Given the description of an element on the screen output the (x, y) to click on. 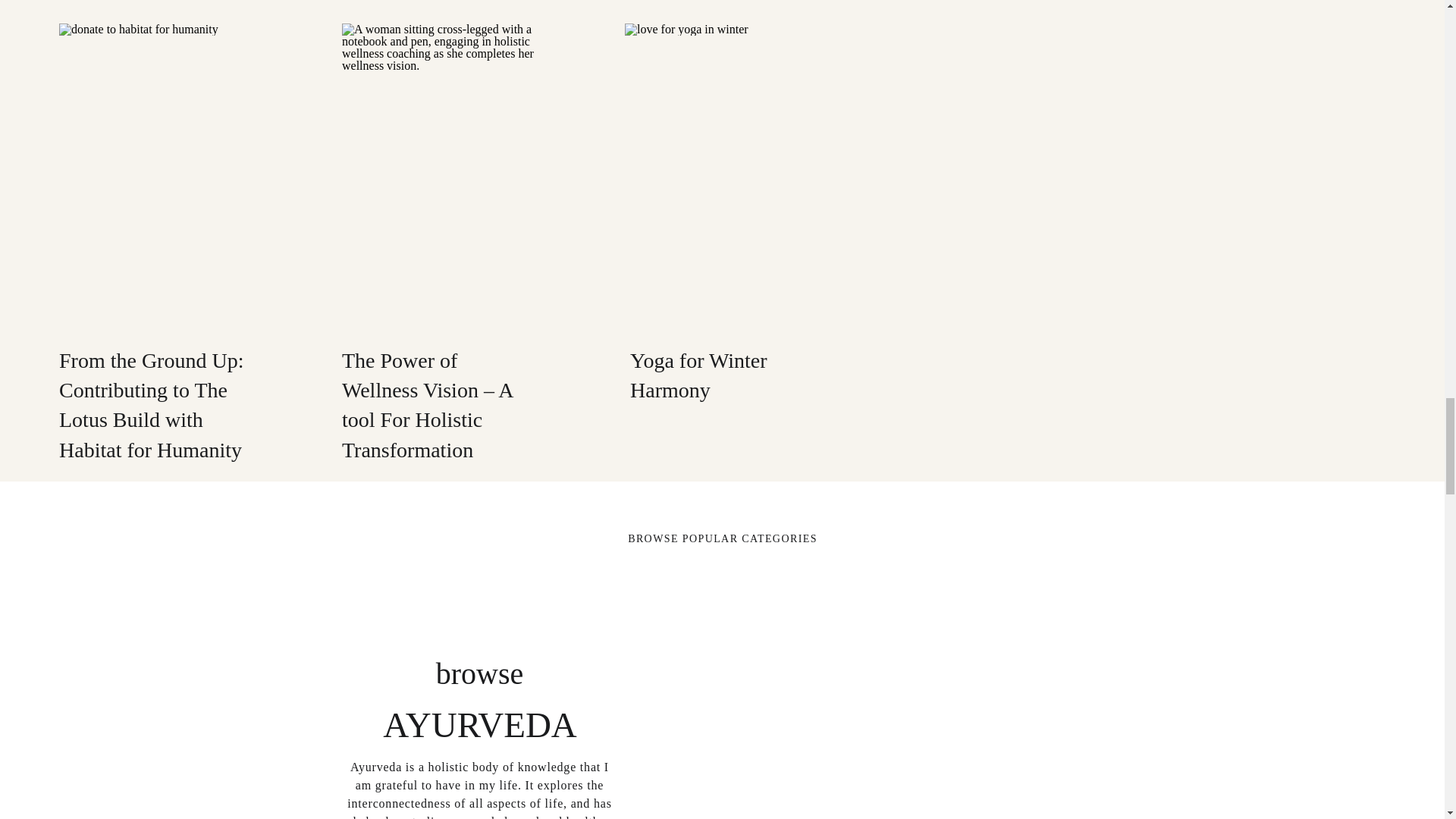
Yoga for Winter Harmony (737, 174)
